Given the description of an element on the screen output the (x, y) to click on. 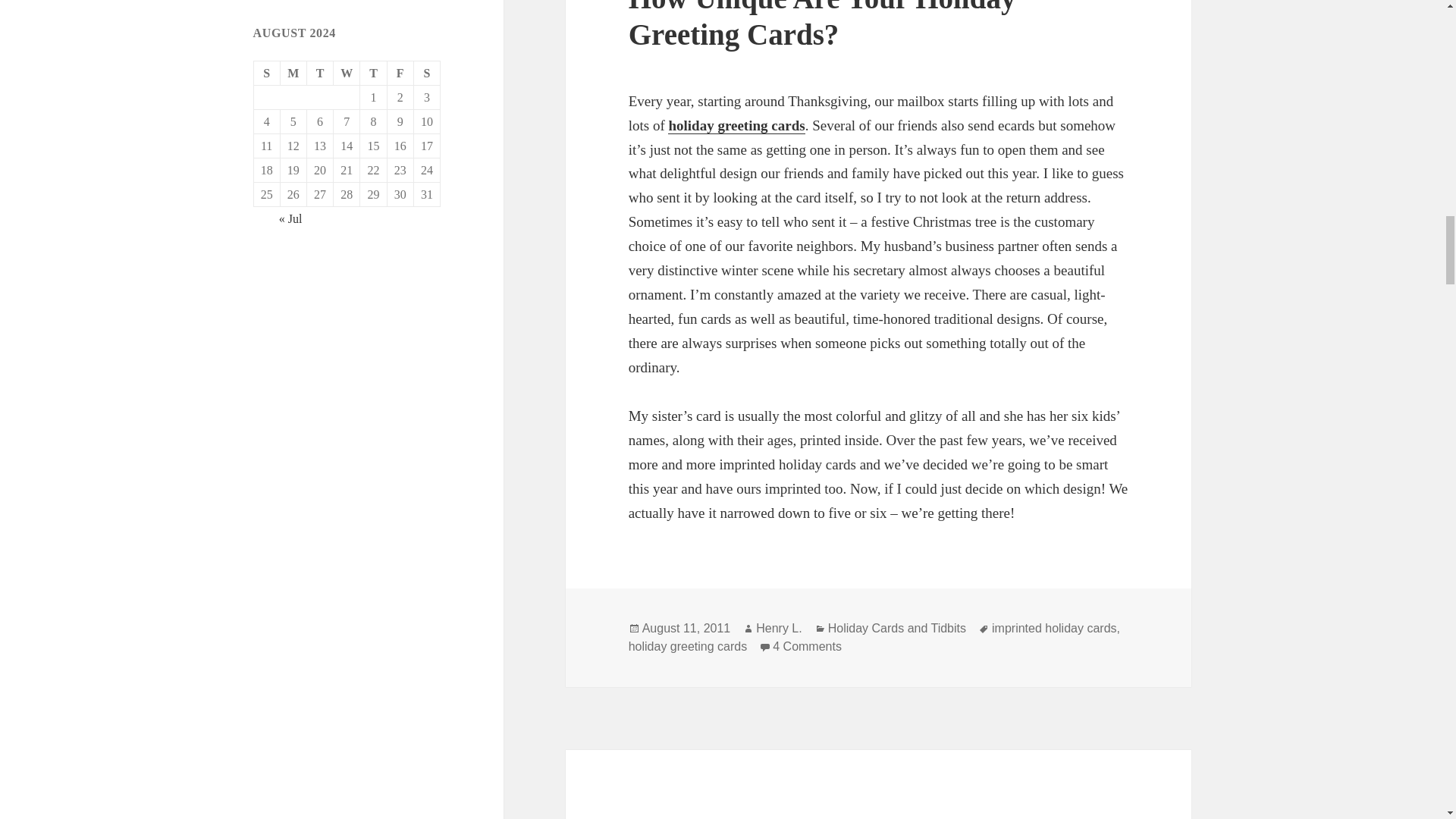
Sunday (267, 73)
Tuesday (320, 73)
Monday (294, 73)
Thursday (373, 73)
Friday (400, 73)
Wednesday (346, 73)
Saturday (427, 73)
